Given the description of an element on the screen output the (x, y) to click on. 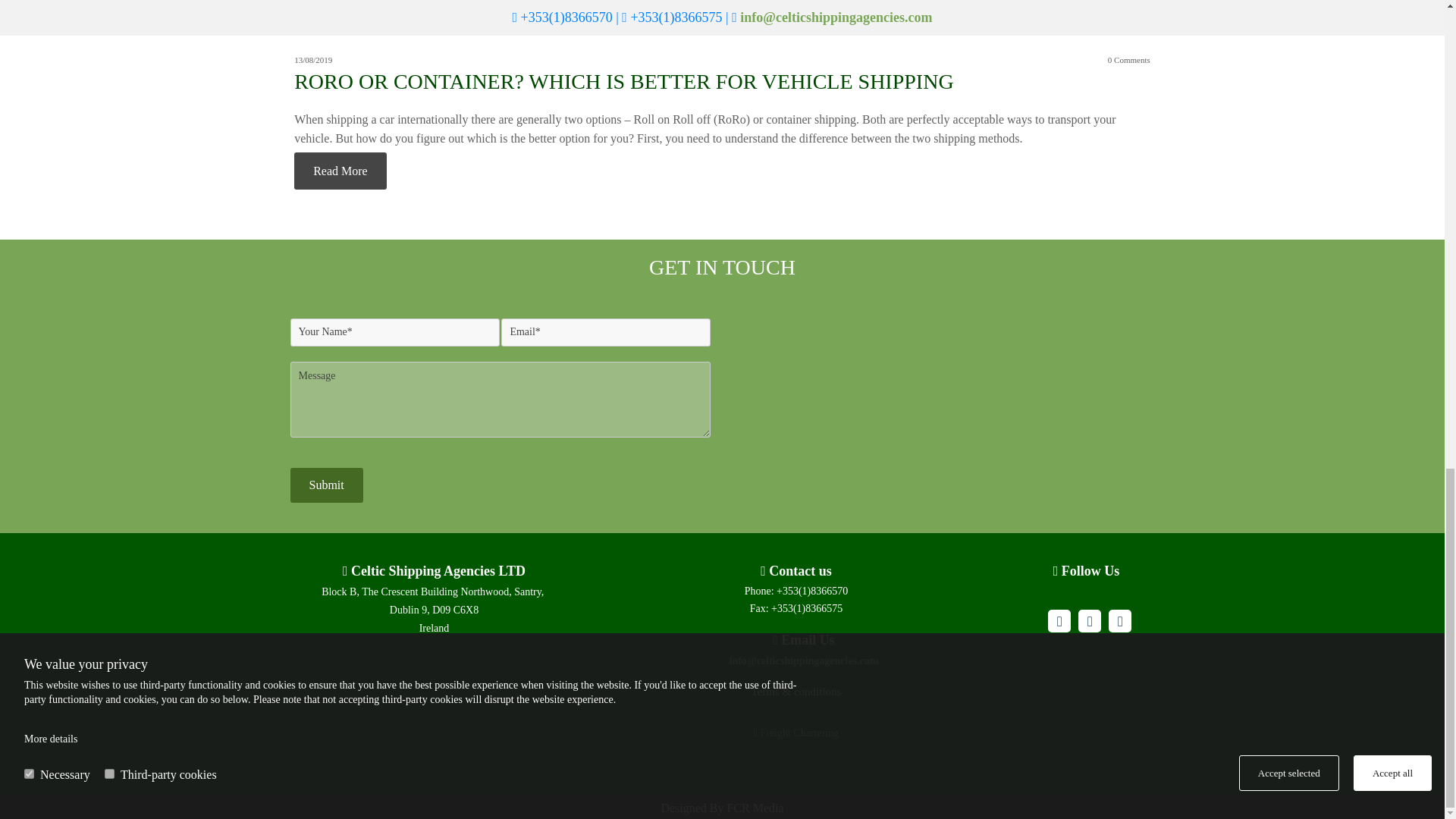
Submit (325, 484)
Heavy Haulage Shipping Requirements (340, 8)
